Given the description of an element on the screen output the (x, y) to click on. 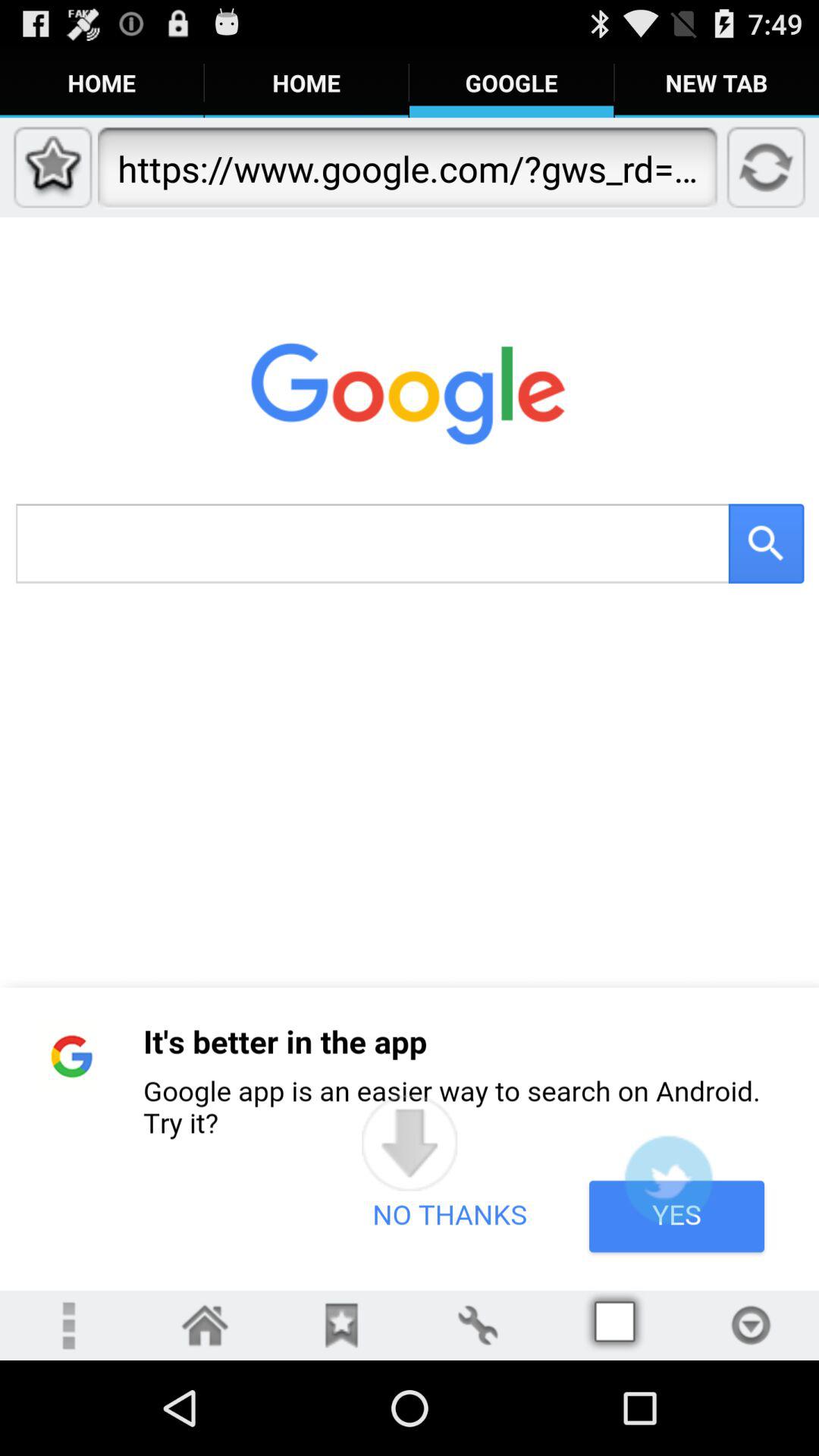
icon buton (204, 1325)
